Given the description of an element on the screen output the (x, y) to click on. 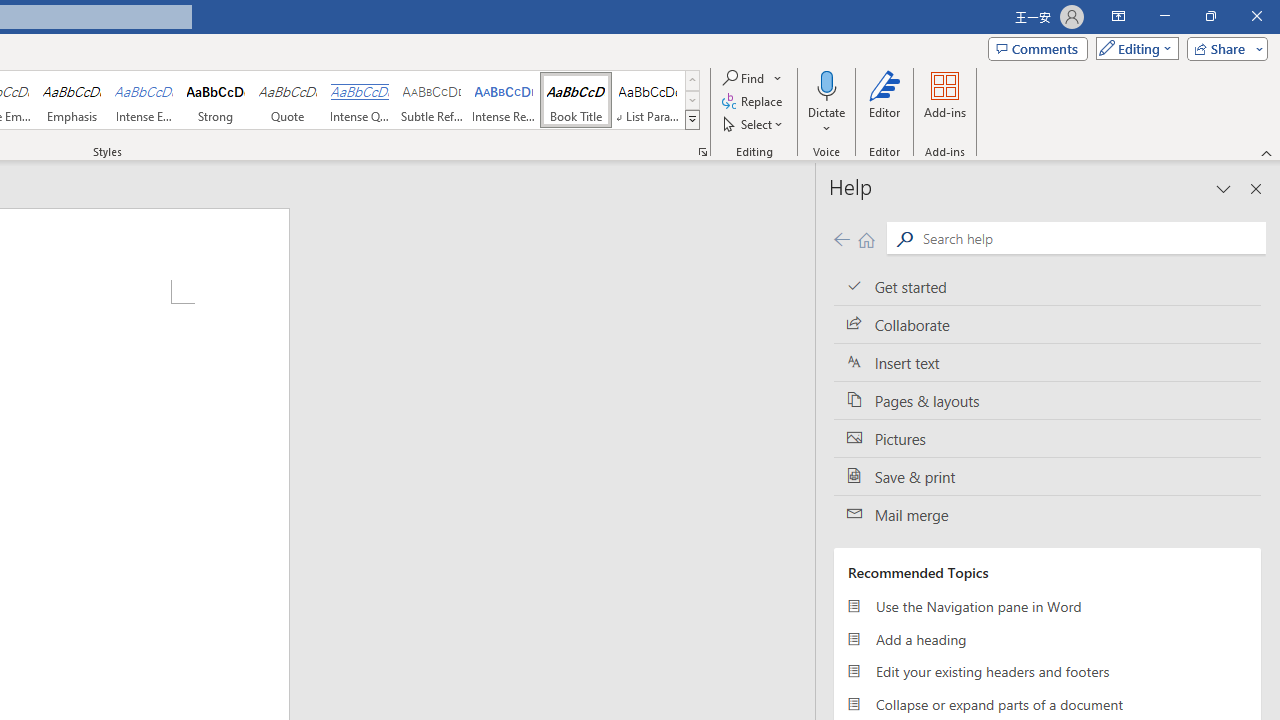
Intense Emphasis (143, 100)
Pictures (1047, 438)
Book Title (575, 100)
Share (1223, 48)
Use the Navigation pane in Word (1047, 605)
Intense Reference (504, 100)
Collapse or expand parts of a document (1047, 704)
Save & print (1047, 476)
Previous page (841, 238)
Collapse the Ribbon (1267, 152)
Get started (1047, 286)
Collaborate (1047, 325)
Home (866, 238)
